Given the description of an element on the screen output the (x, y) to click on. 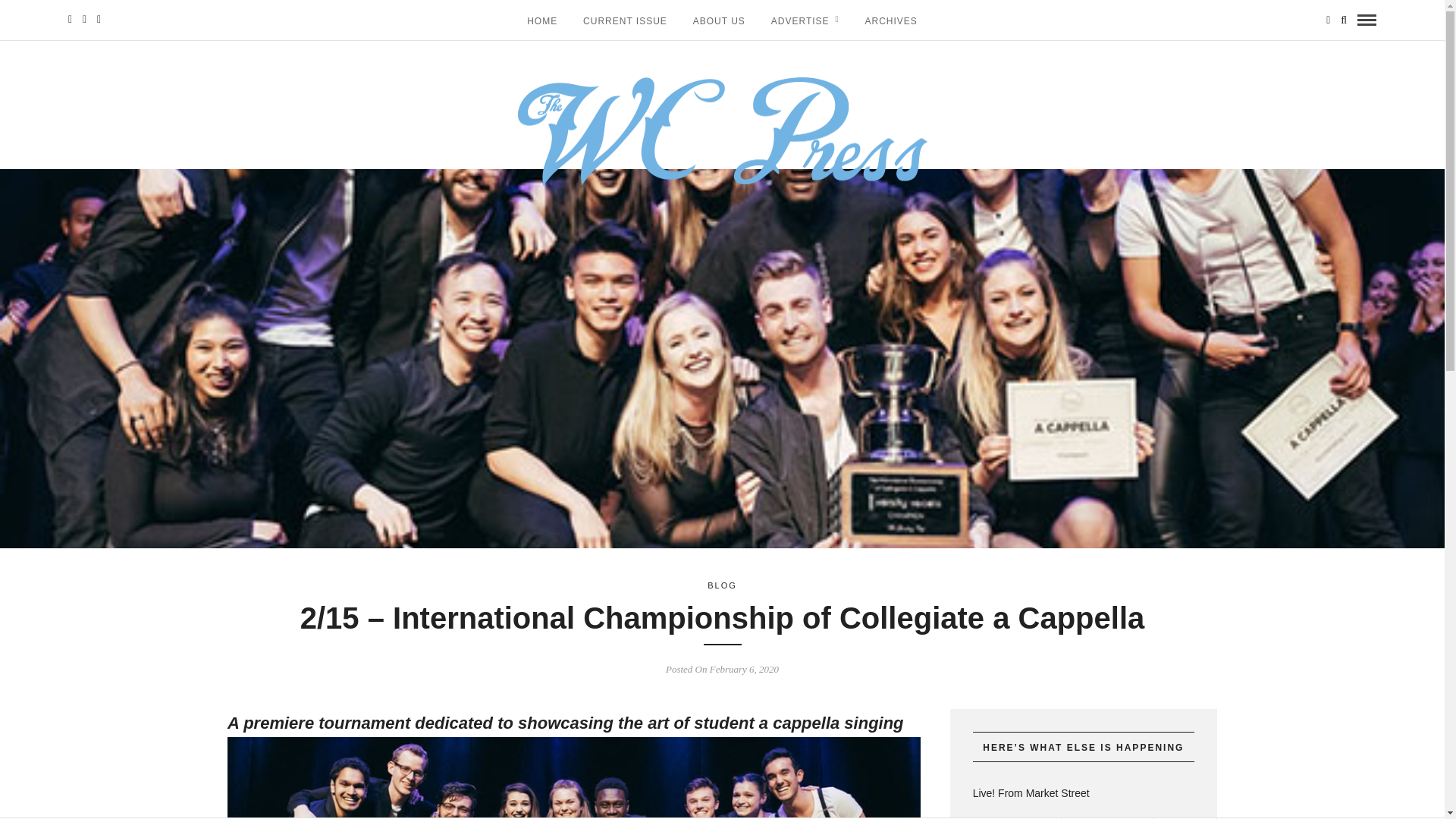
Live! From Market Street (1082, 793)
ADVERTISE (805, 20)
CURRENT ISSUE (625, 20)
ABOUT US (719, 20)
ARCHIVES (890, 20)
HOME (542, 20)
BLOG (721, 584)
